Given the description of an element on the screen output the (x, y) to click on. 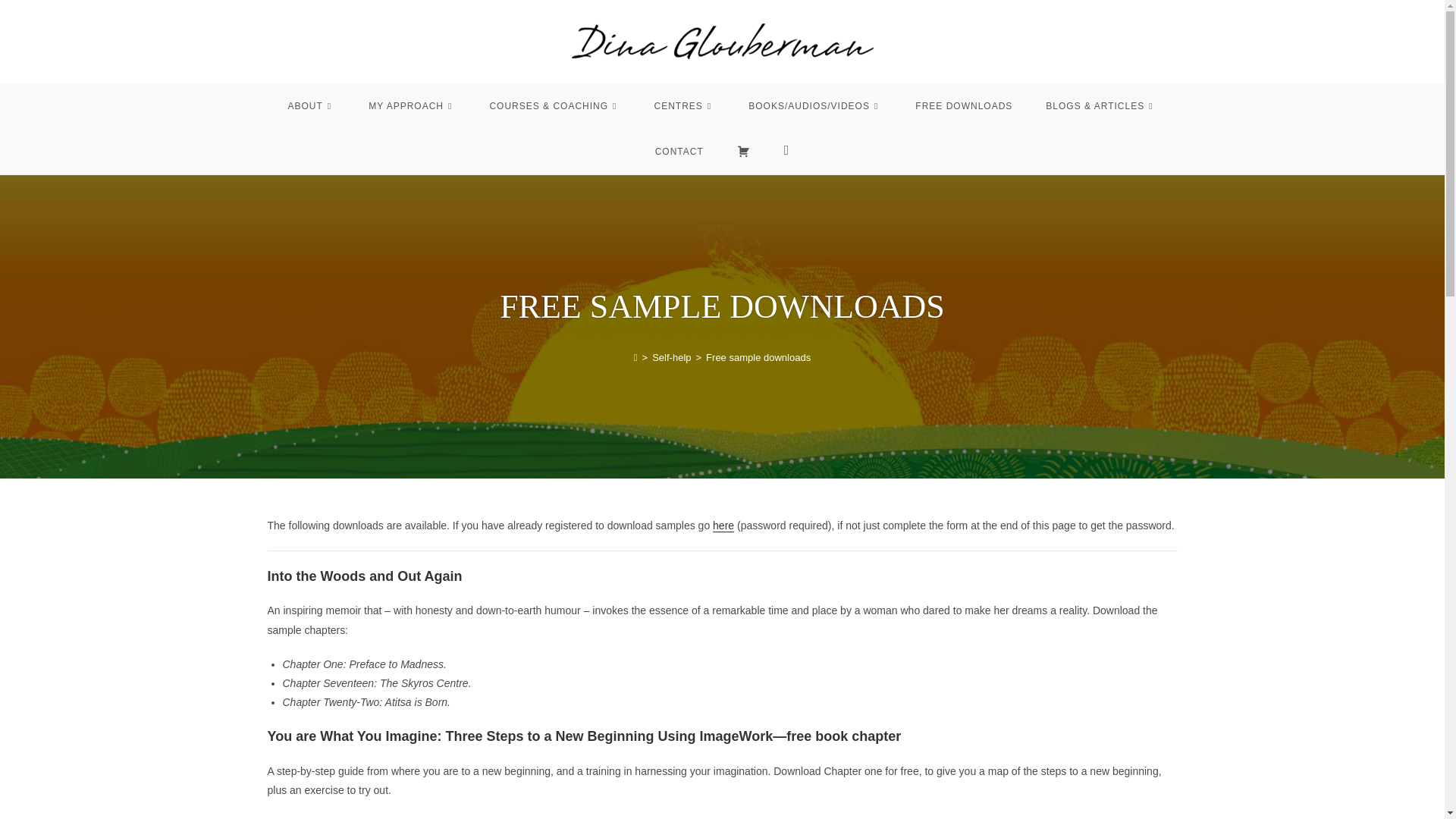
MY APPROACH (411, 105)
FREE DOWNLOADS (963, 105)
Sample downloads (723, 525)
ABOUT (311, 105)
CONTACT (679, 151)
CENTRES (684, 105)
